Given the description of an element on the screen output the (x, y) to click on. 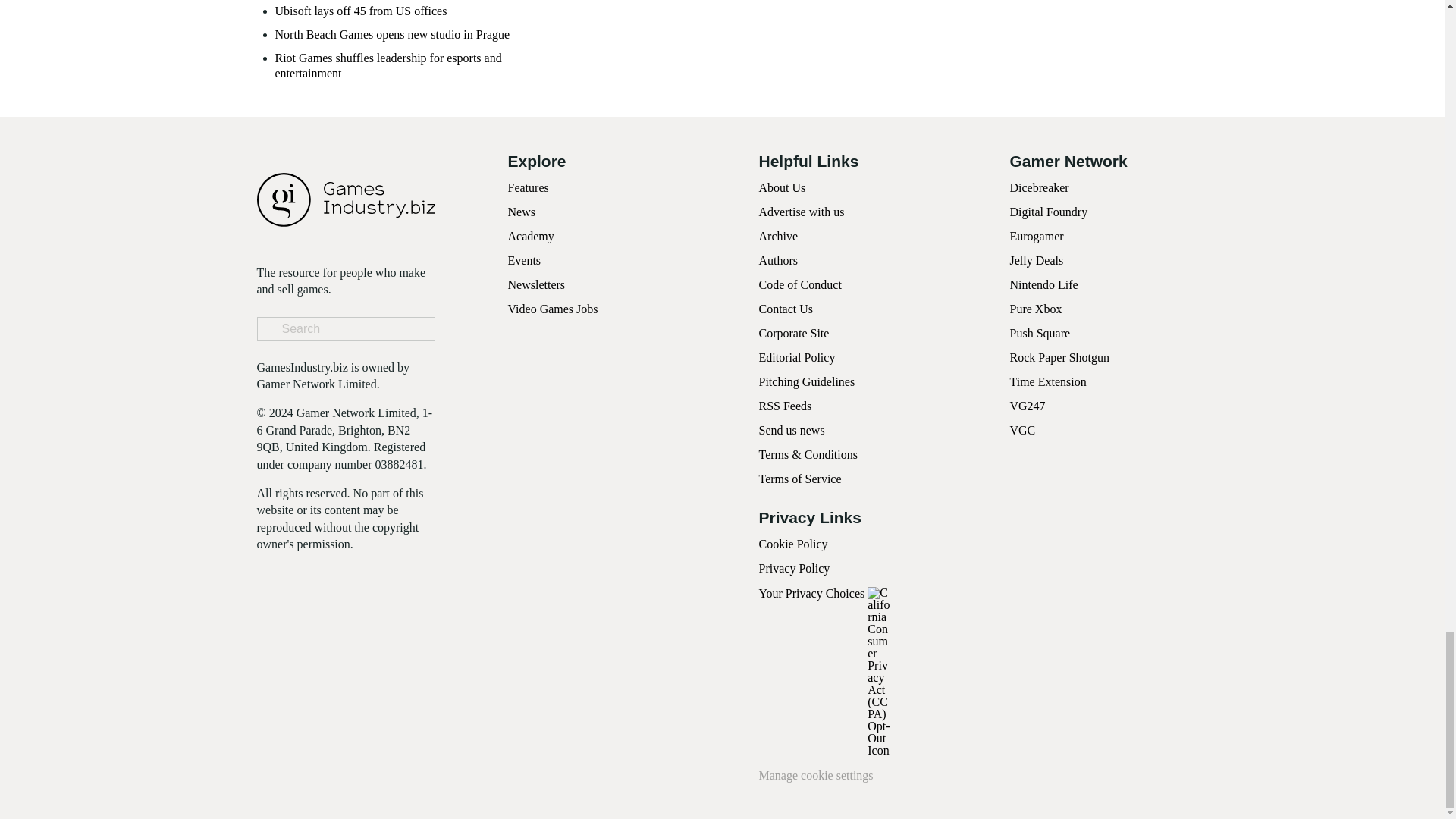
North Beach Games opens new studio in Prague (392, 34)
Academy (531, 236)
Features (528, 187)
Events (524, 259)
Video Games Jobs (553, 308)
Newsletters (537, 284)
Advertise with us (801, 211)
Ubisoft lays off 45 from US offices (360, 11)
About Us (781, 187)
News (521, 211)
